Given the description of an element on the screen output the (x, y) to click on. 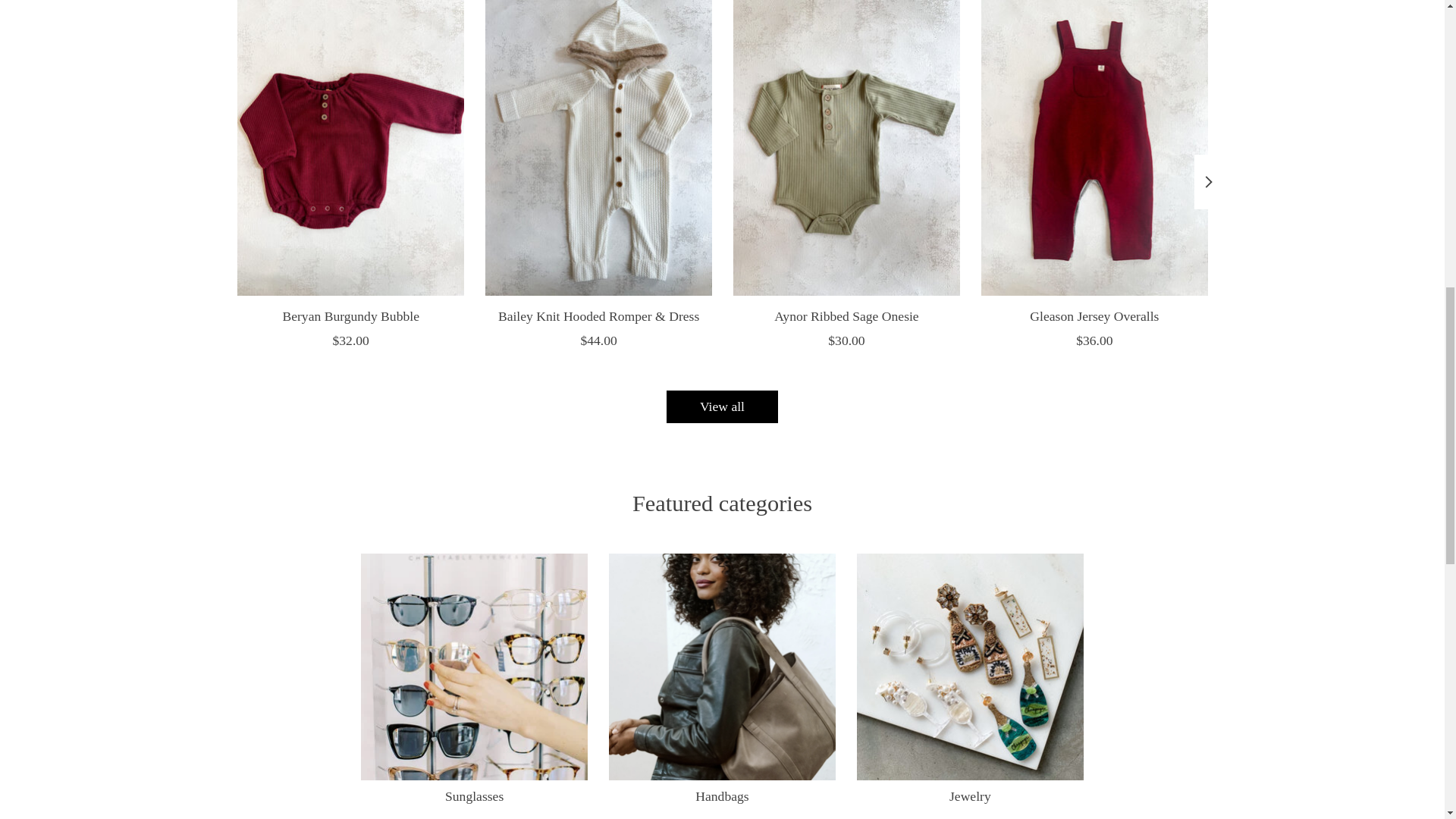
Handbags (721, 666)
Sunglasses (474, 666)
